Given the description of an element on the screen output the (x, y) to click on. 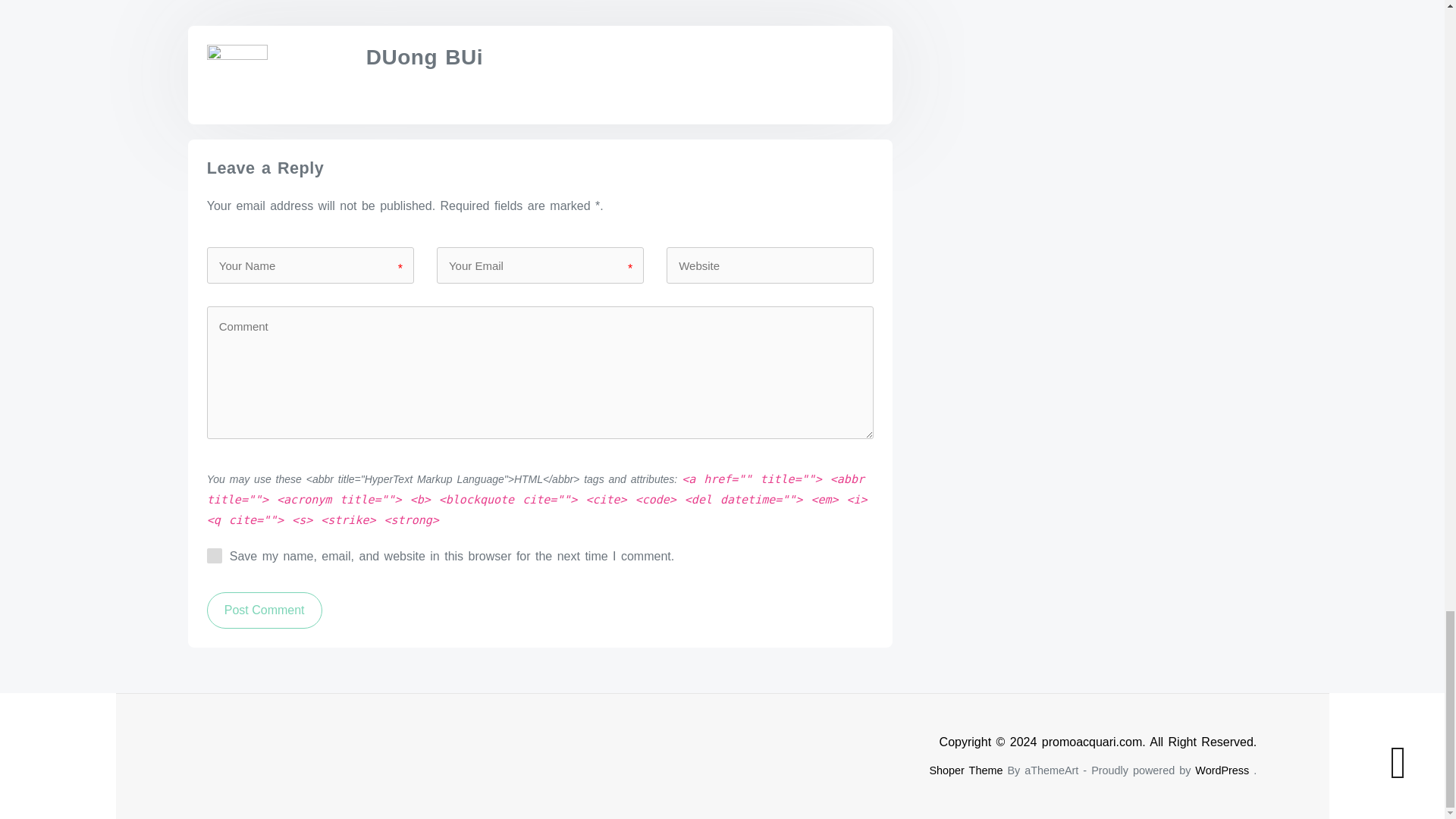
yes (214, 555)
